Given the description of an element on the screen output the (x, y) to click on. 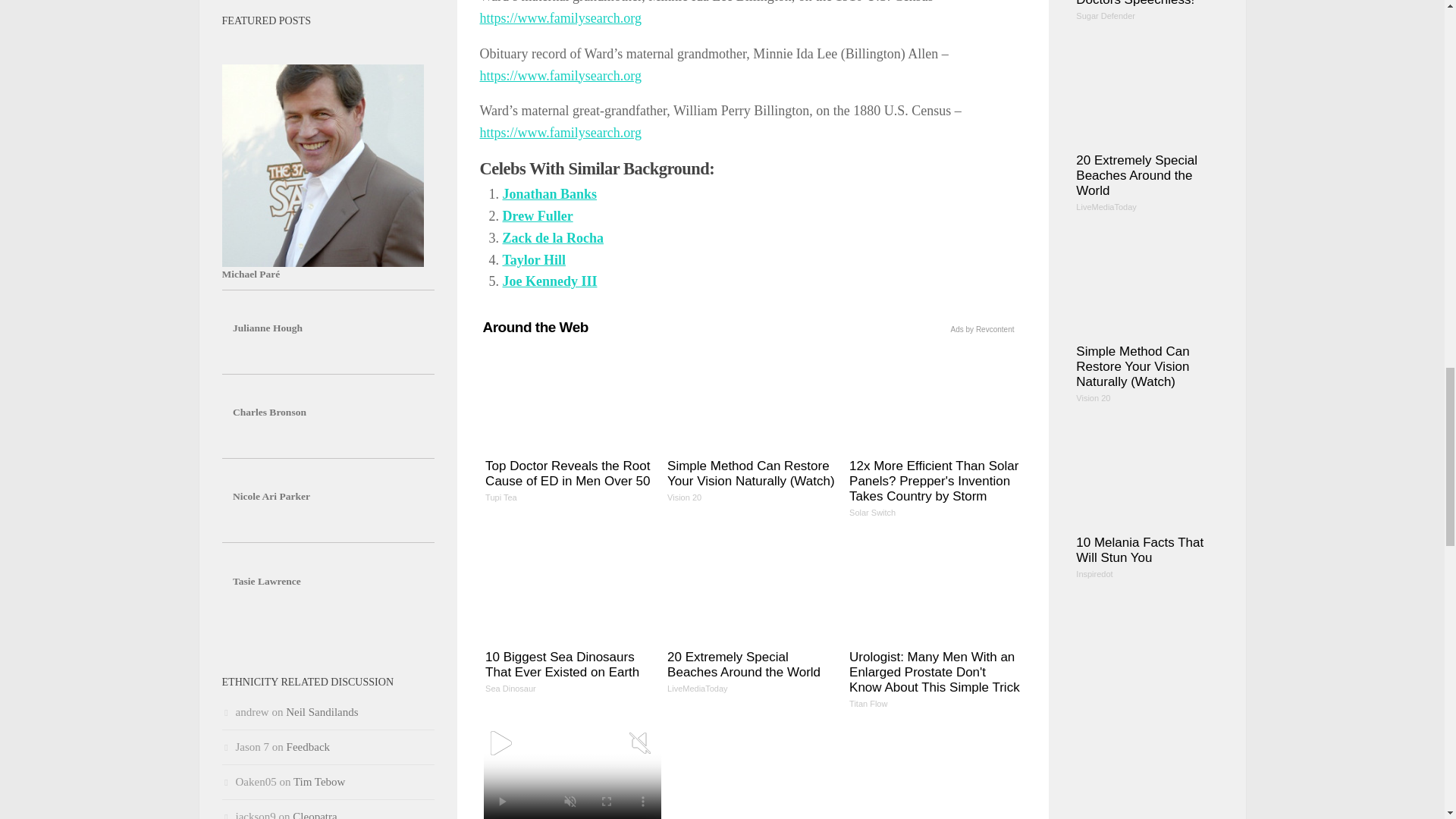
Top Doctor Reveals the Root Cause of ED in Men Over 50 (570, 427)
Joe Kennedy III (549, 281)
Taylor Hill (534, 259)
Jonathan Banks (549, 193)
Zack de la Rocha (553, 237)
10 Biggest Sea Dinosaurs That Ever Existed on Earth (570, 618)
Drew Fuller (537, 215)
